Given the description of an element on the screen output the (x, y) to click on. 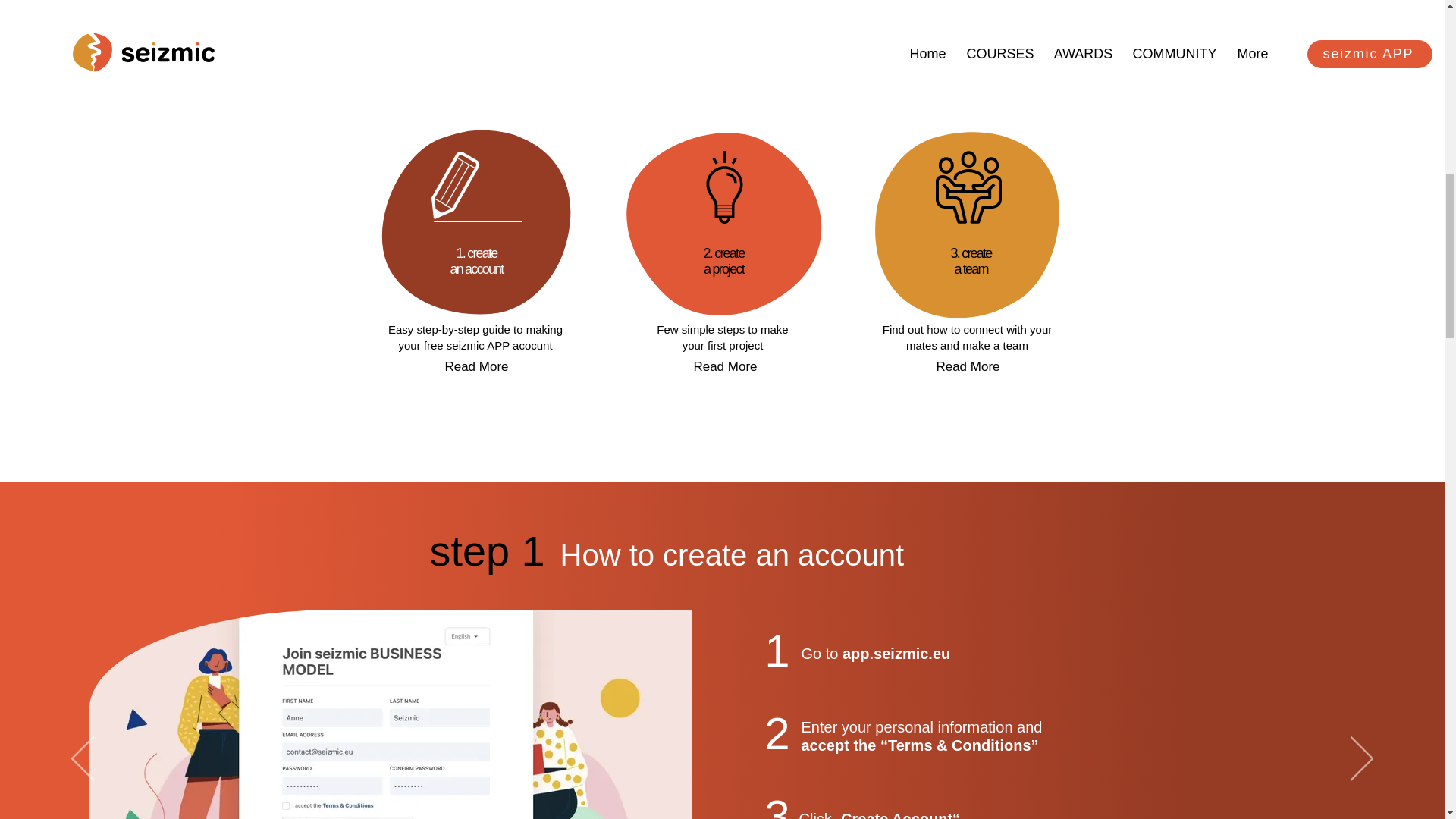
Read More (724, 366)
app.seizmic.eu (896, 653)
Read More (486, 552)
Read More (967, 366)
